Given the description of an element on the screen output the (x, y) to click on. 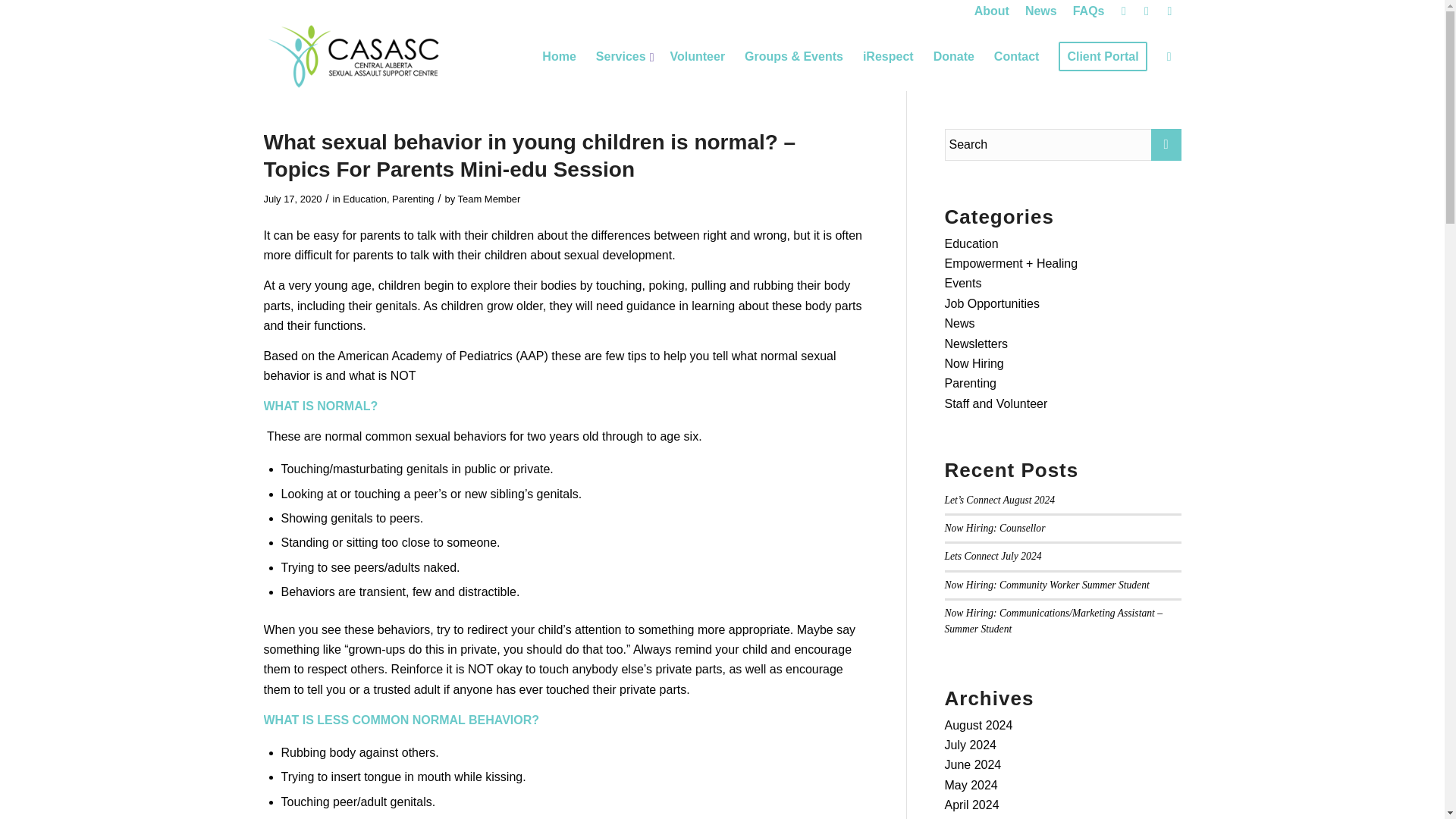
casasc logo (354, 56)
FAQs (1089, 11)
Services (623, 56)
News (1041, 11)
Client Portal (1102, 56)
iRespect (888, 56)
Posts by Team Member (489, 198)
Education (364, 198)
Parenting (412, 198)
Team Member (489, 198)
